Given the description of an element on the screen output the (x, y) to click on. 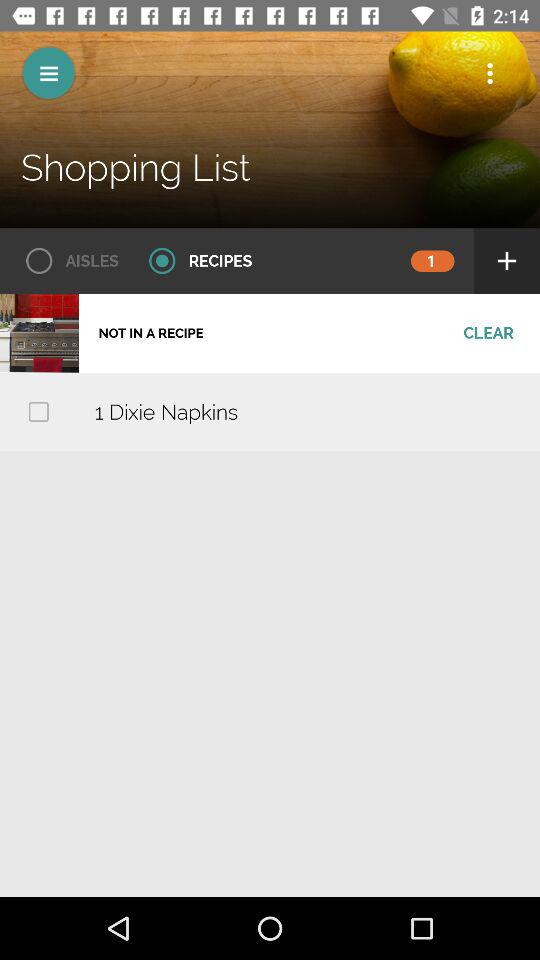
select aisles option (65, 261)
